Given the description of an element on the screen output the (x, y) to click on. 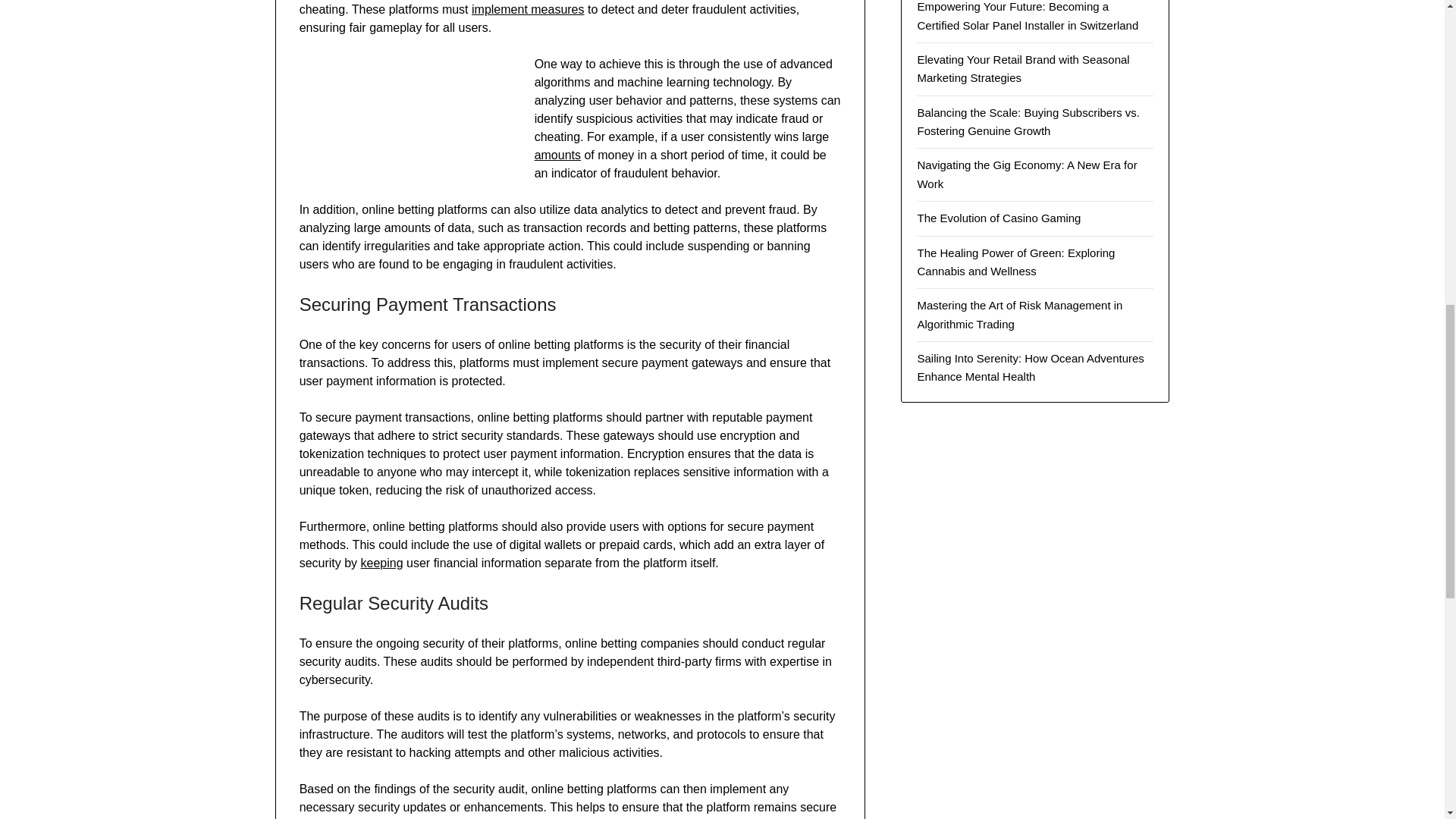
keeping (382, 562)
amounts (557, 154)
implement measures (528, 9)
The Healing Power of Green: Exploring Cannabis and Wellness (1016, 261)
The Evolution of Casino Gaming (998, 217)
Navigating the Gig Economy: A New Era for Work (1027, 173)
